Given the description of an element on the screen output the (x, y) to click on. 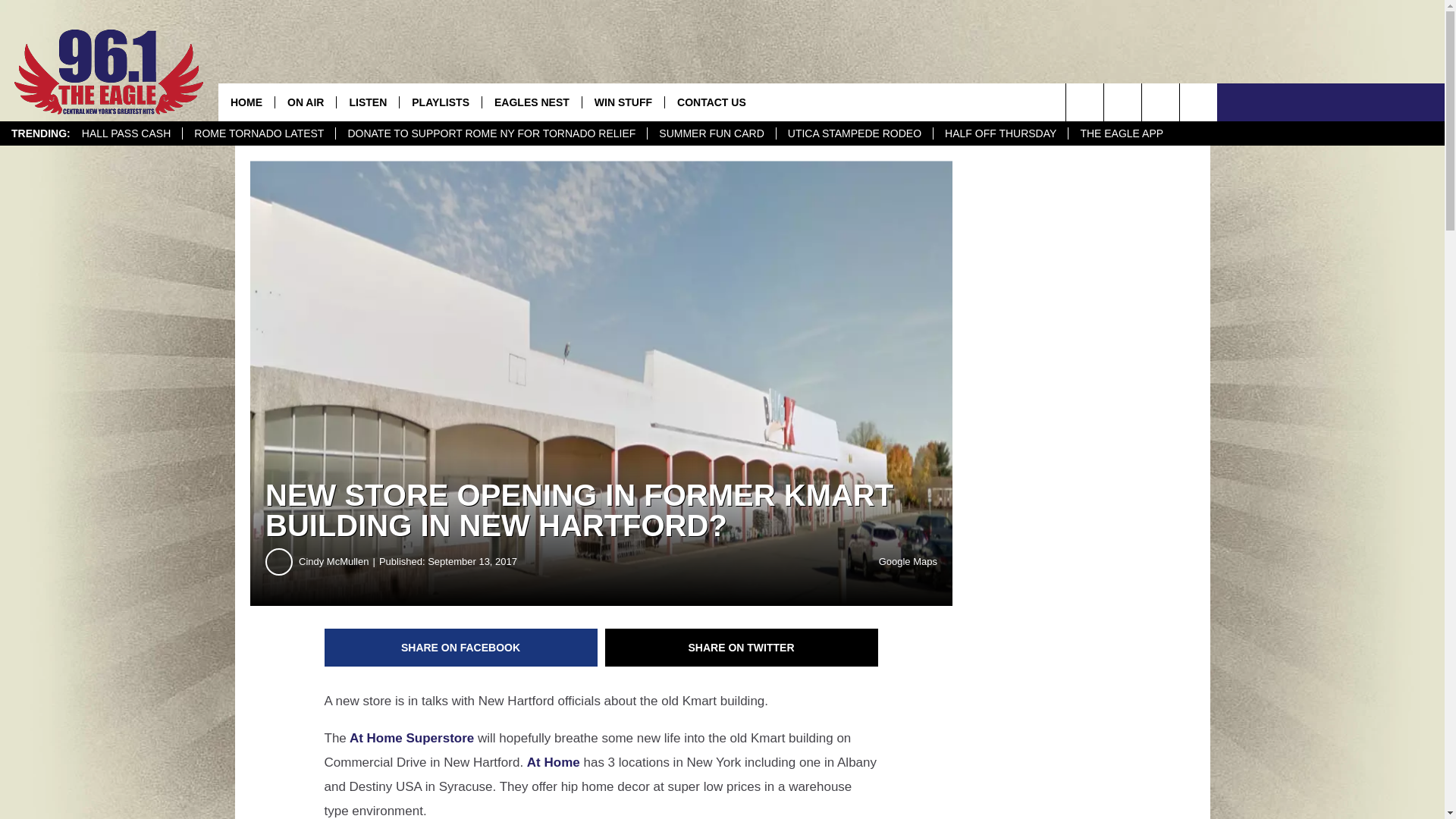
SUMMER FUN CARD (710, 133)
UTICA STAMPEDE RODEO (854, 133)
HALF OFF THURSDAY (1000, 133)
LISTEN (367, 102)
ROME TORNADO LATEST (258, 133)
Share on Facebook (460, 647)
HALL PASS CASH (126, 133)
Share on Twitter (741, 647)
CONTACT US (710, 102)
EAGLES NEST (530, 102)
ON AIR (305, 102)
WIN STUFF (621, 102)
DONATE TO SUPPORT ROME NY FOR TORNADO RELIEF (490, 133)
THE EAGLE APP (1120, 133)
PLAYLISTS (439, 102)
